Given the description of an element on the screen output the (x, y) to click on. 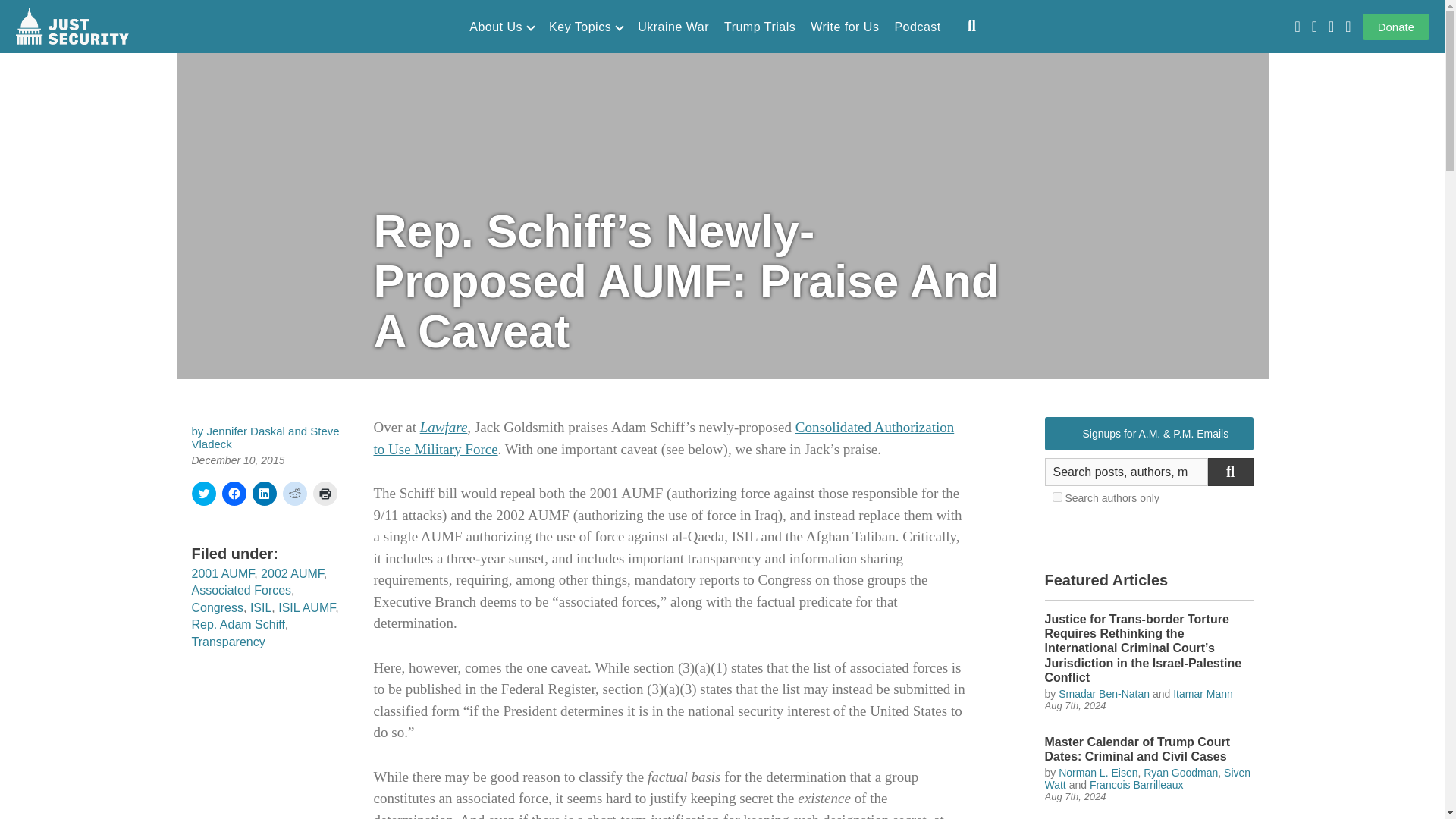
Profile and articles by Itamar Mann (1203, 693)
Search for: (1126, 471)
Profile and articles by Norman L. Eisen (1097, 772)
Click to share on Twitter (202, 493)
Write for Us (844, 27)
Click to share on Reddit (293, 493)
Trump Trials (758, 27)
Click to print (324, 493)
About Us (501, 27)
Click to share on Facebook (233, 493)
